Given the description of an element on the screen output the (x, y) to click on. 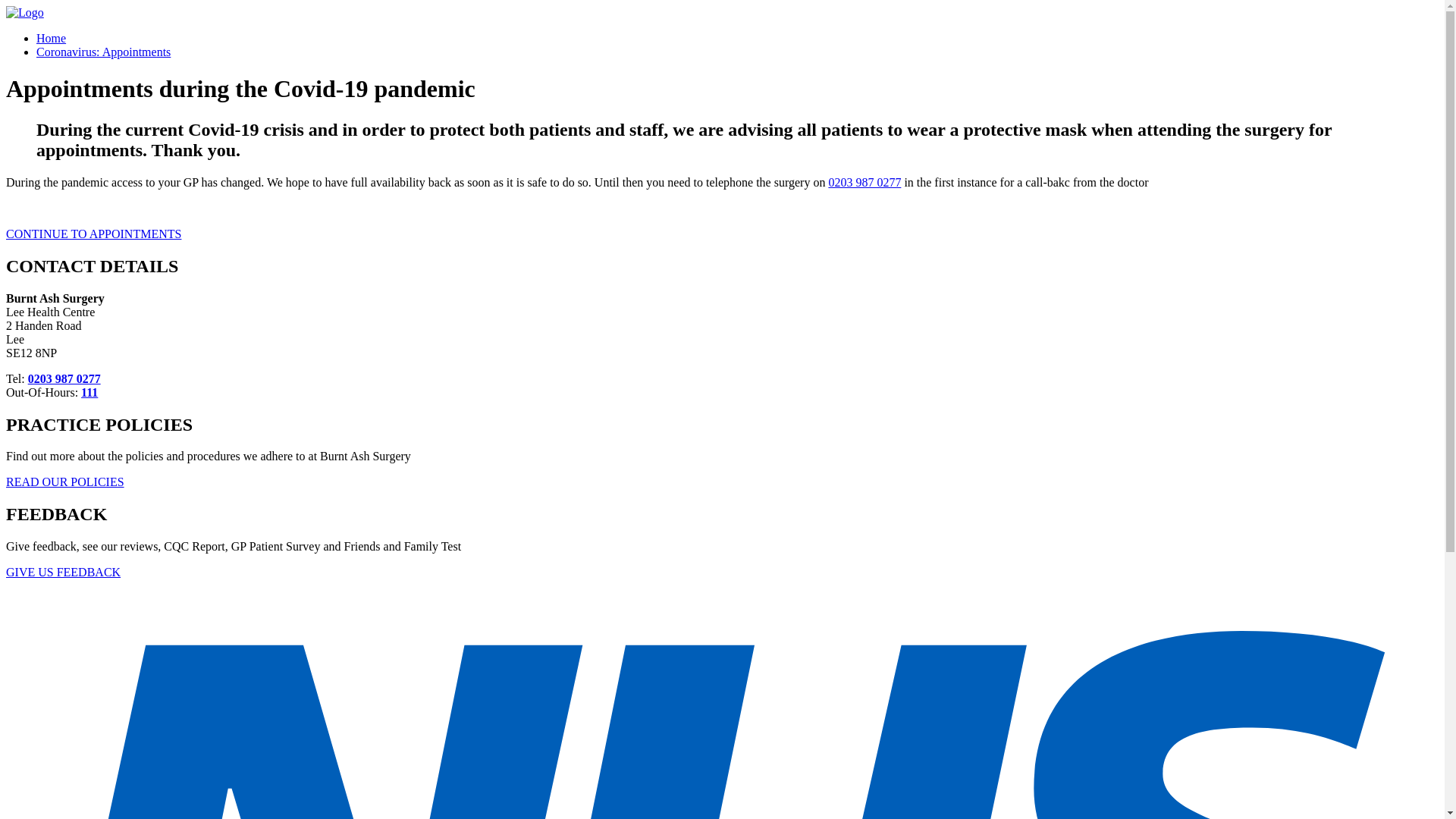
111 (89, 391)
Coronavirus: Appointments (103, 51)
0203 987 0277 (63, 378)
CONTINUE TO APPOINTMENTS (92, 233)
0203 987 0277 (864, 182)
READ OUR POLICIES (64, 481)
GIVE US FEEDBACK (62, 571)
Home (50, 38)
